Given the description of an element on the screen output the (x, y) to click on. 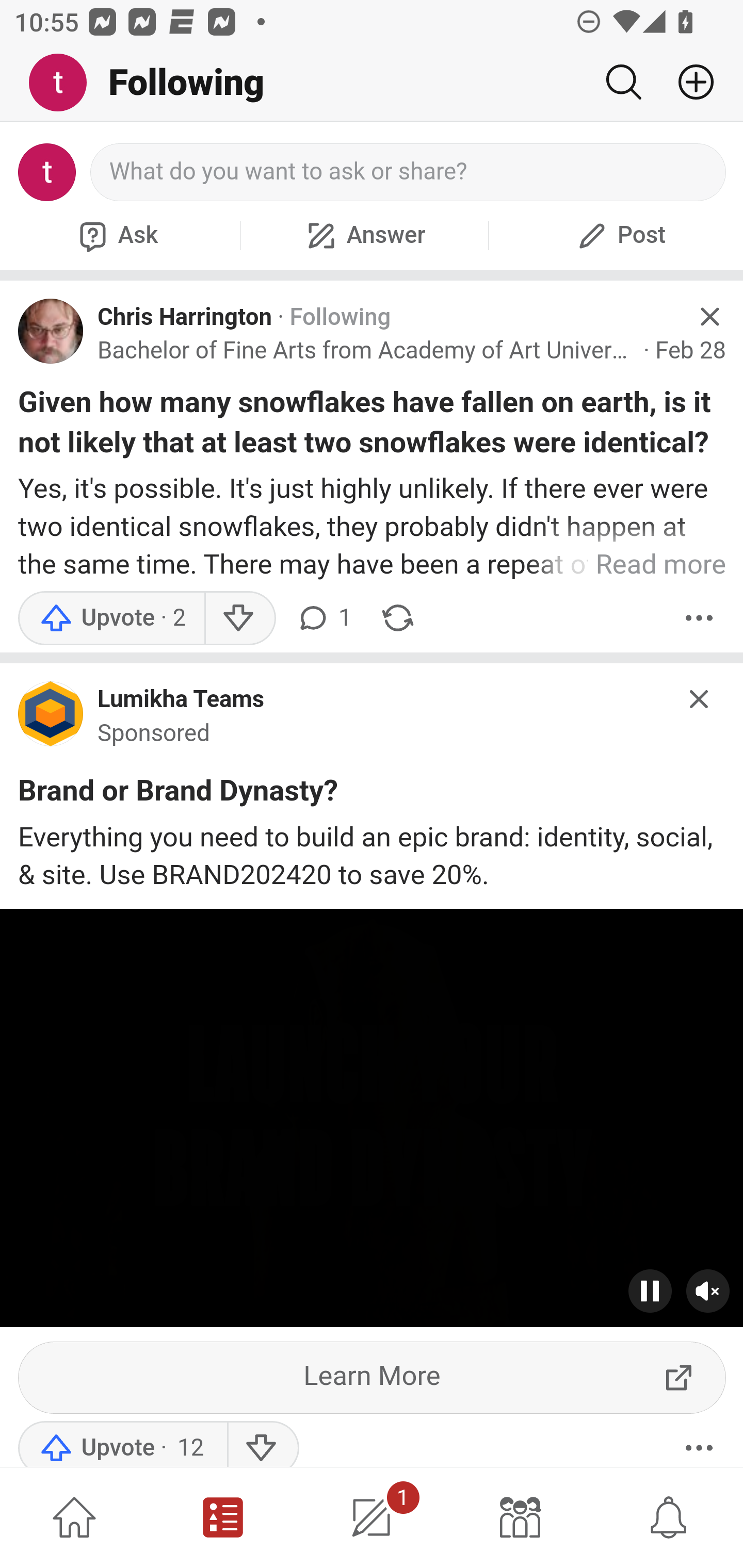
Me (64, 83)
Search (623, 82)
Add (688, 82)
What do you want to ask or share? (408, 172)
Ask (116, 234)
Answer (364, 234)
Post (618, 234)
Hide (709, 316)
Profile photo for Chris Harrington (50, 330)
Chris Harrington (184, 316)
Following (340, 316)
Upvote (111, 617)
Downvote (238, 617)
1 comment (323, 617)
Share (398, 617)
More (699, 617)
Hide (699, 699)
main-qimg-f5d4e8fd1215ba730a24b98a5815bcba (50, 717)
Lumikha Teams (181, 700)
Sponsored (154, 733)
Brand or Brand Dynasty? (178, 794)
Pause (650, 1290)
VolumeMuted (708, 1290)
Learn More ExternalLink (372, 1377)
Upvote (122, 1444)
Downvote (262, 1444)
More (699, 1444)
1 (371, 1517)
